Given the description of an element on the screen output the (x, y) to click on. 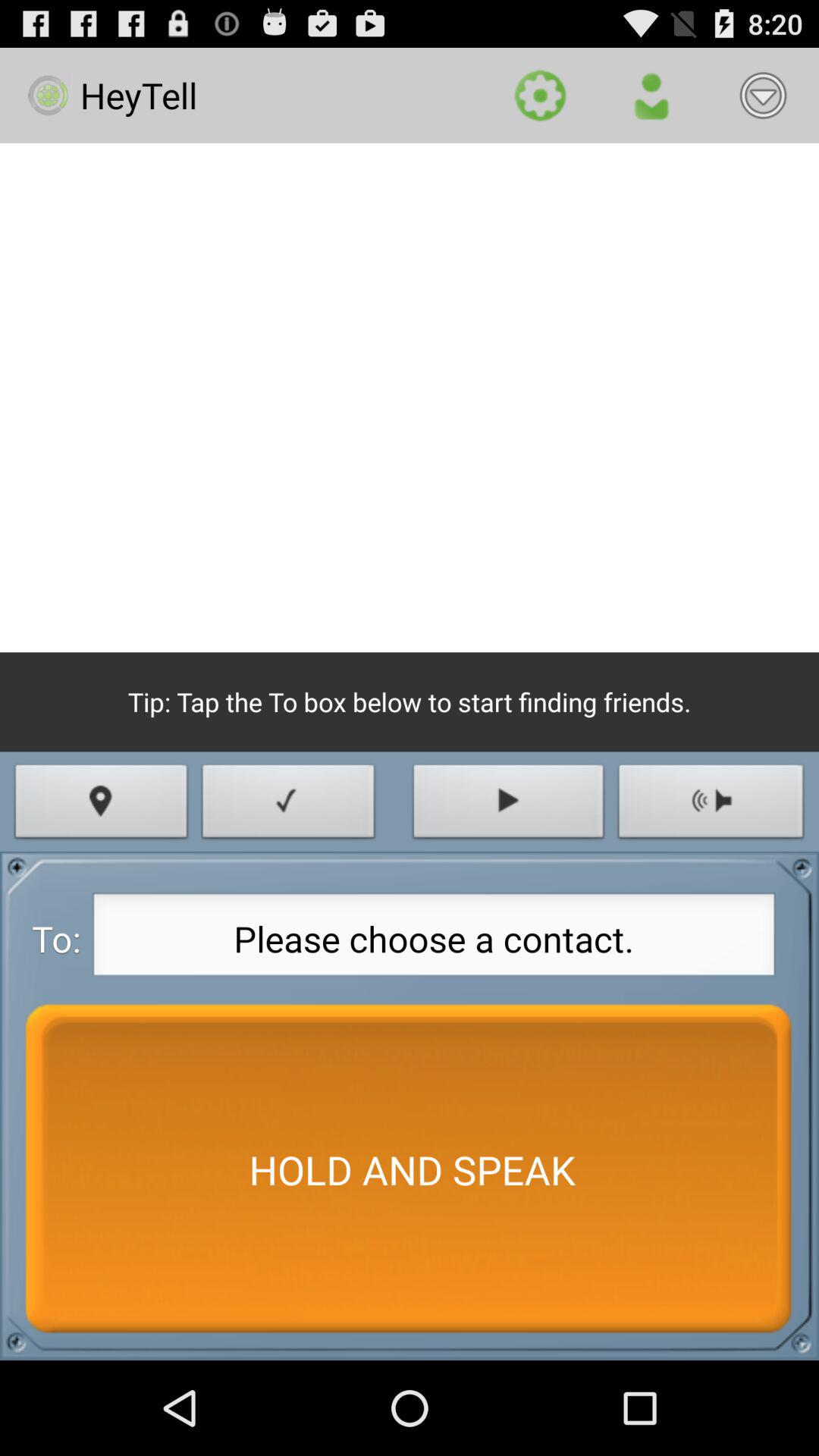
select the icon to the right of heytell item (540, 95)
